Given the description of an element on the screen output the (x, y) to click on. 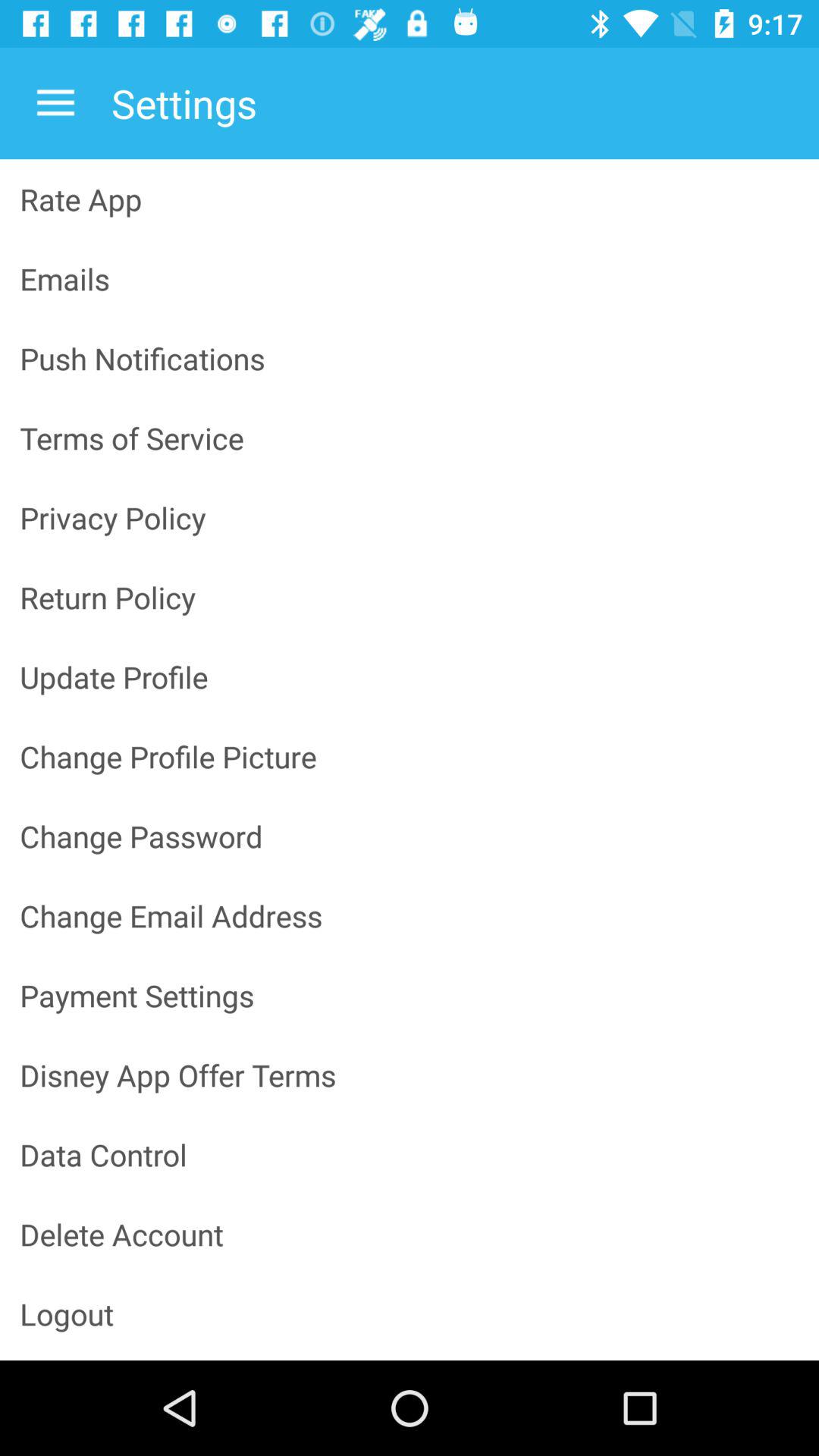
turn on item next to settings icon (55, 103)
